Given the description of an element on the screen output the (x, y) to click on. 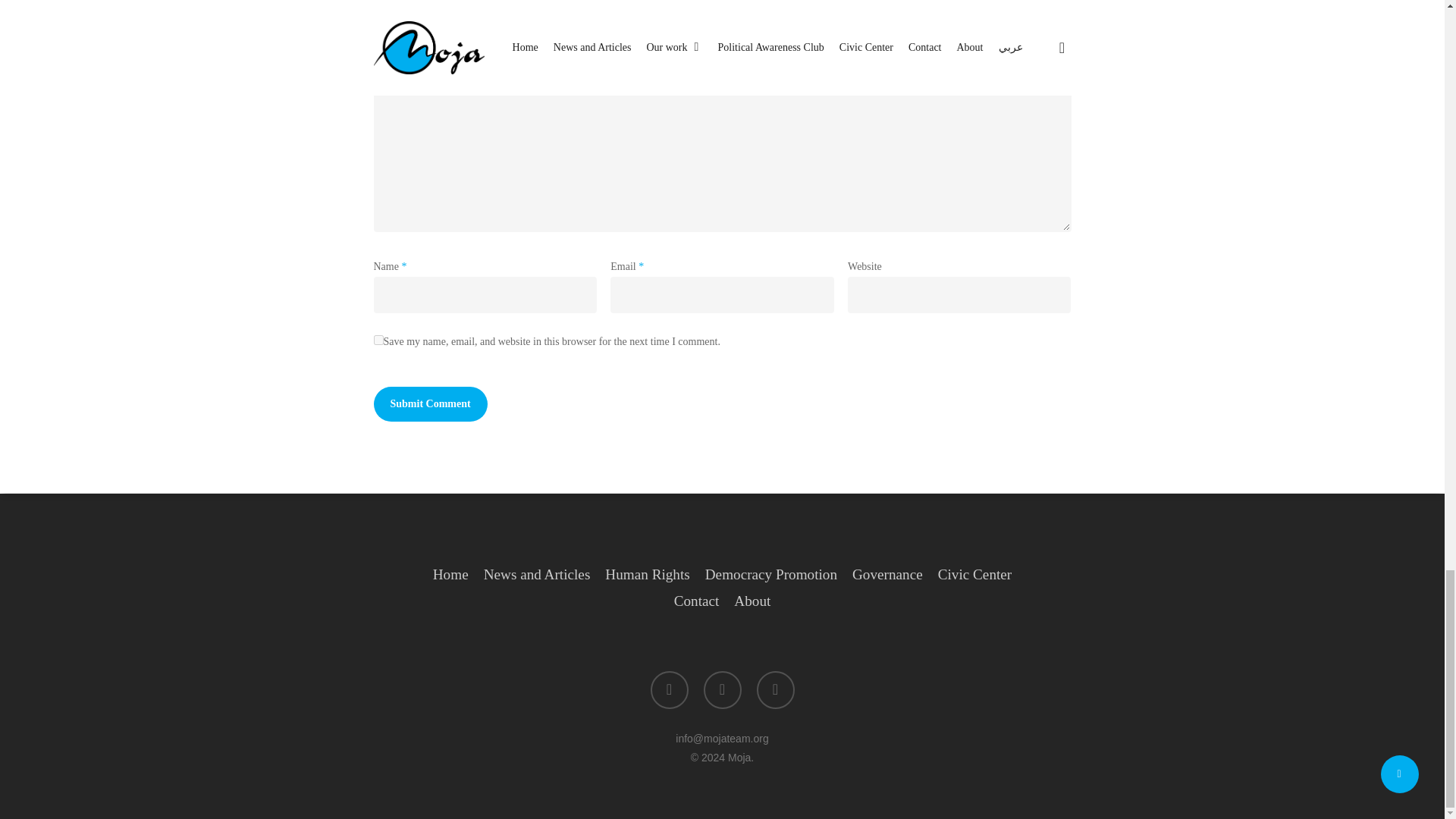
Submit Comment (429, 403)
Submit Comment (429, 403)
yes (377, 339)
